Given the description of an element on the screen output the (x, y) to click on. 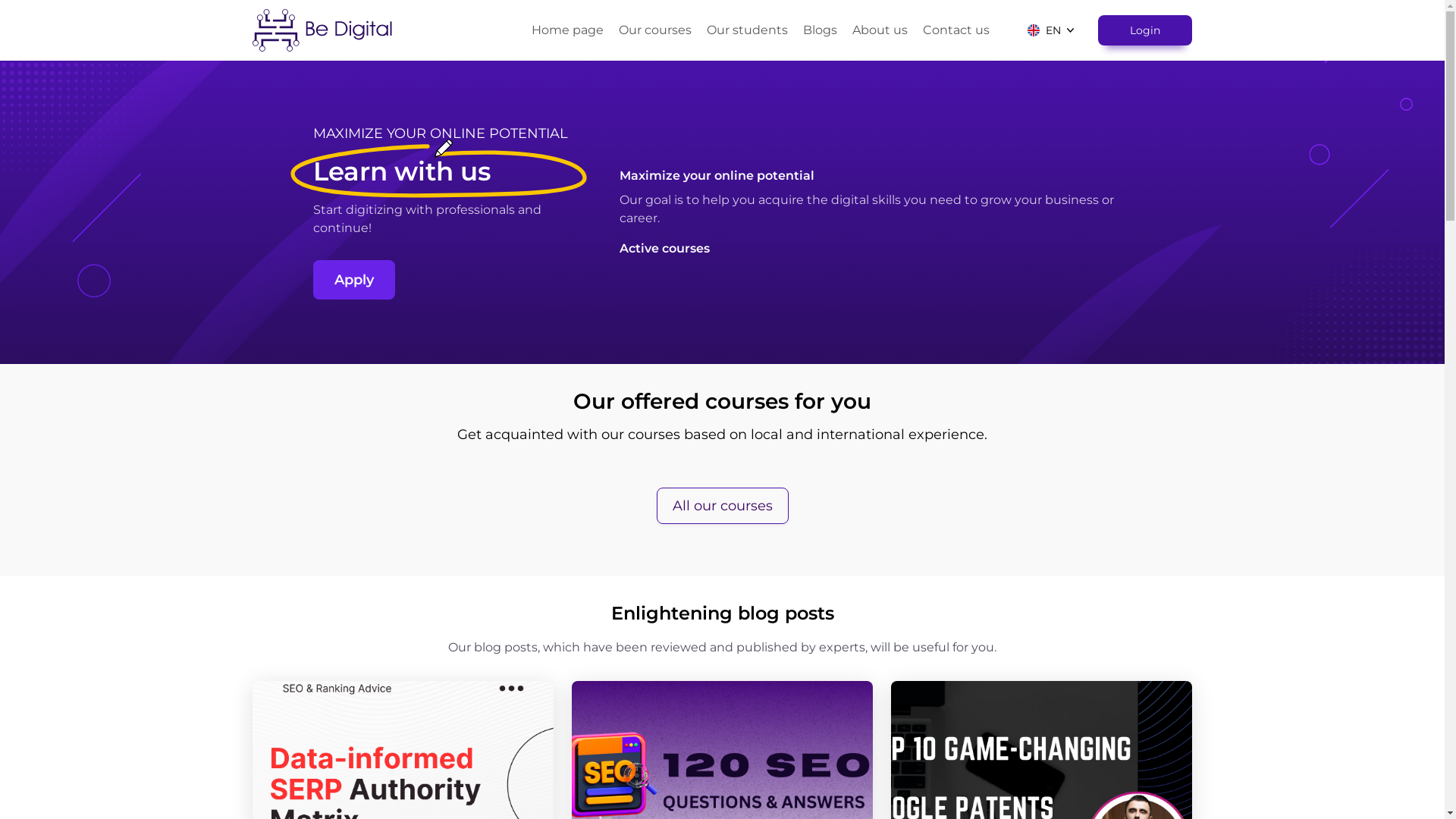
All our courses Element type: text (722, 505)
Our courses Element type: text (655, 29)
Active courses Element type: text (875, 248)
Our students Element type: text (747, 29)
About us Element type: text (879, 29)
Login Element type: text (1145, 30)
Home page Element type: text (567, 29)
Blogs Element type: text (819, 29)
EN Element type: text (1050, 29)
Contact us Element type: text (956, 29)
Apply Element type: text (354, 279)
